Given the description of an element on the screen output the (x, y) to click on. 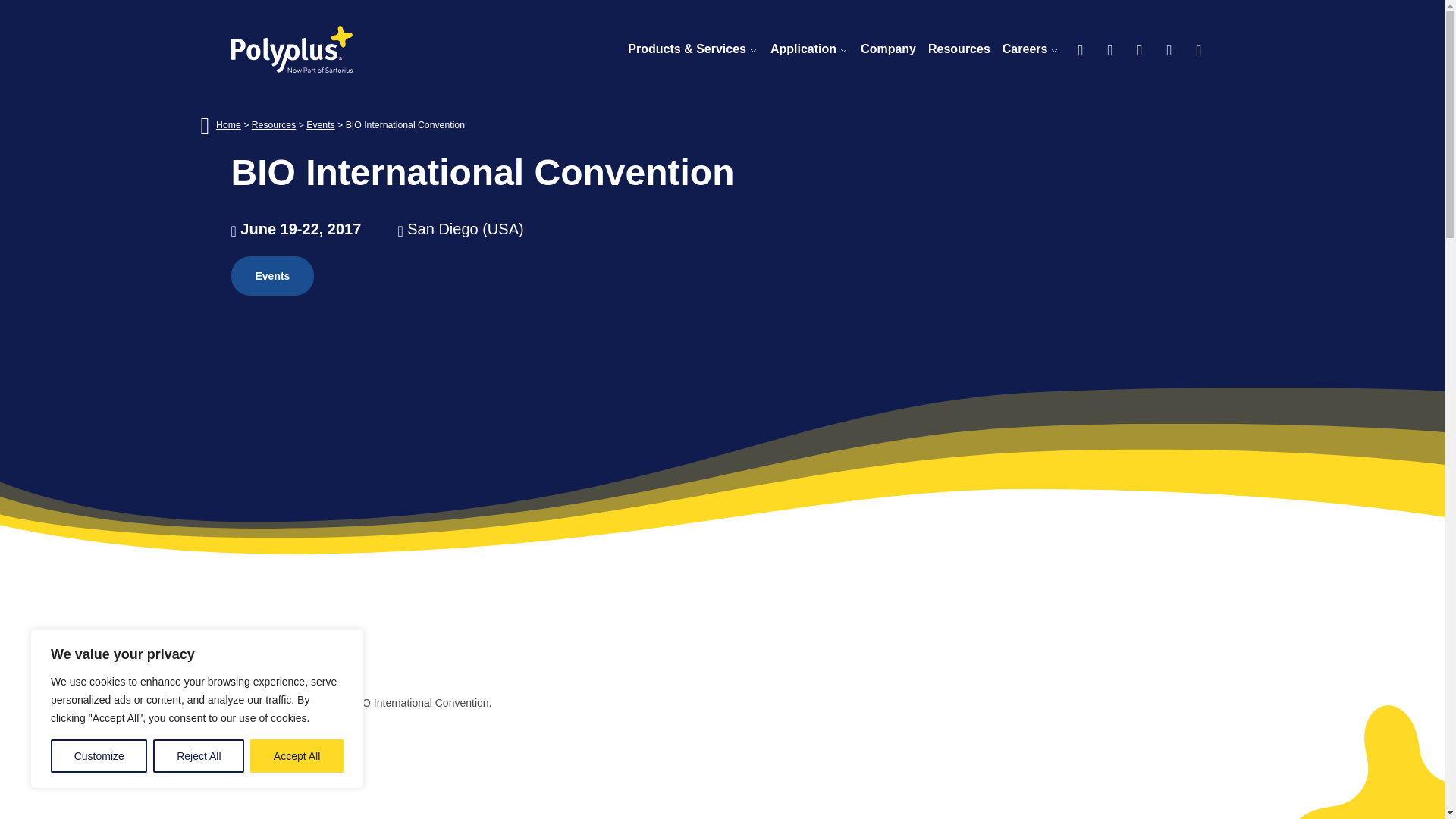
Go to Polyplus. (228, 124)
Go to the Events Category archives. (319, 124)
Go to Resources. (274, 124)
Accept All (296, 756)
Customize (98, 756)
Reject All (198, 756)
